Given the description of an element on the screen output the (x, y) to click on. 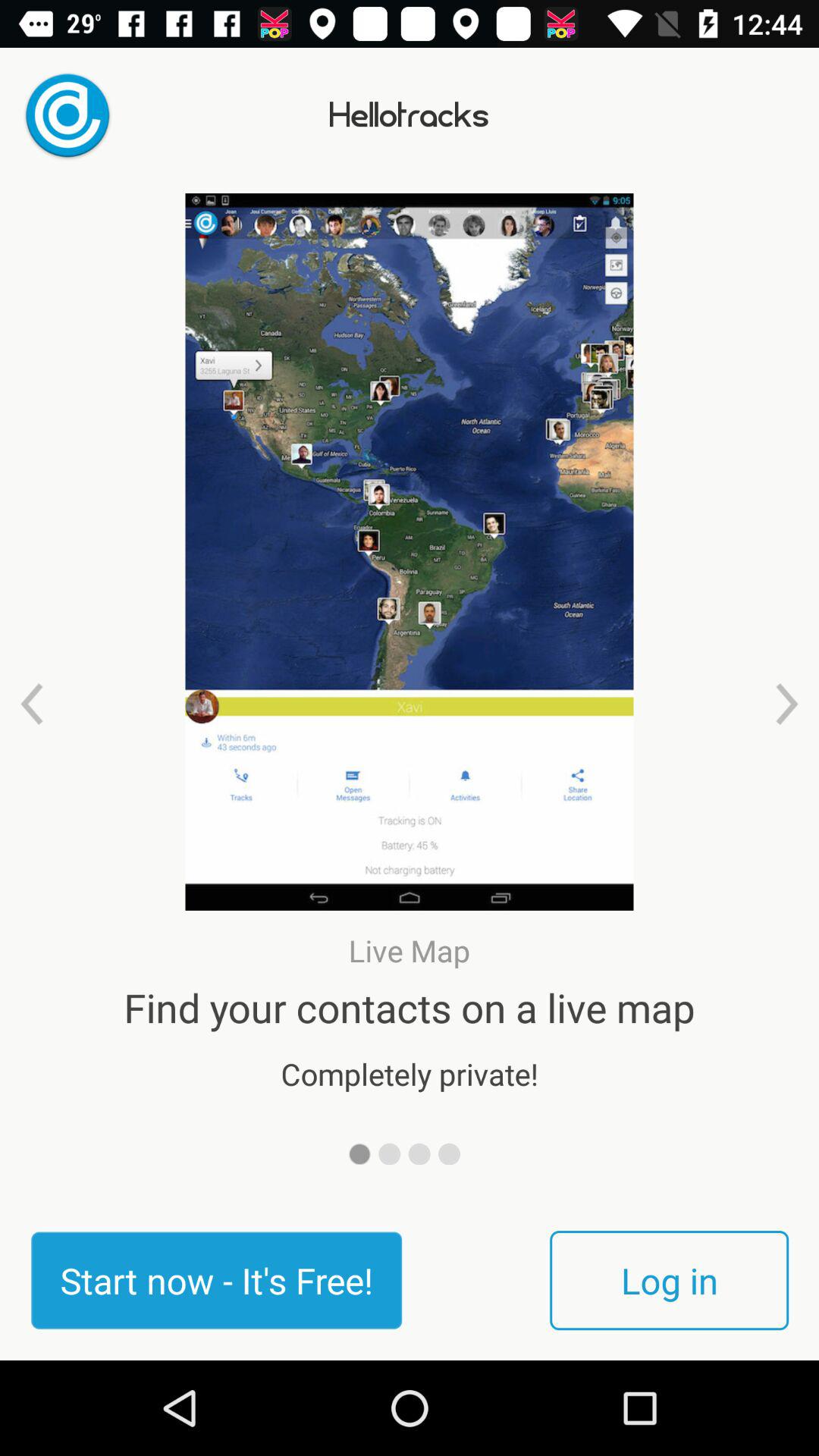
press the start now it at the bottom left corner (216, 1280)
